Given the description of an element on the screen output the (x, y) to click on. 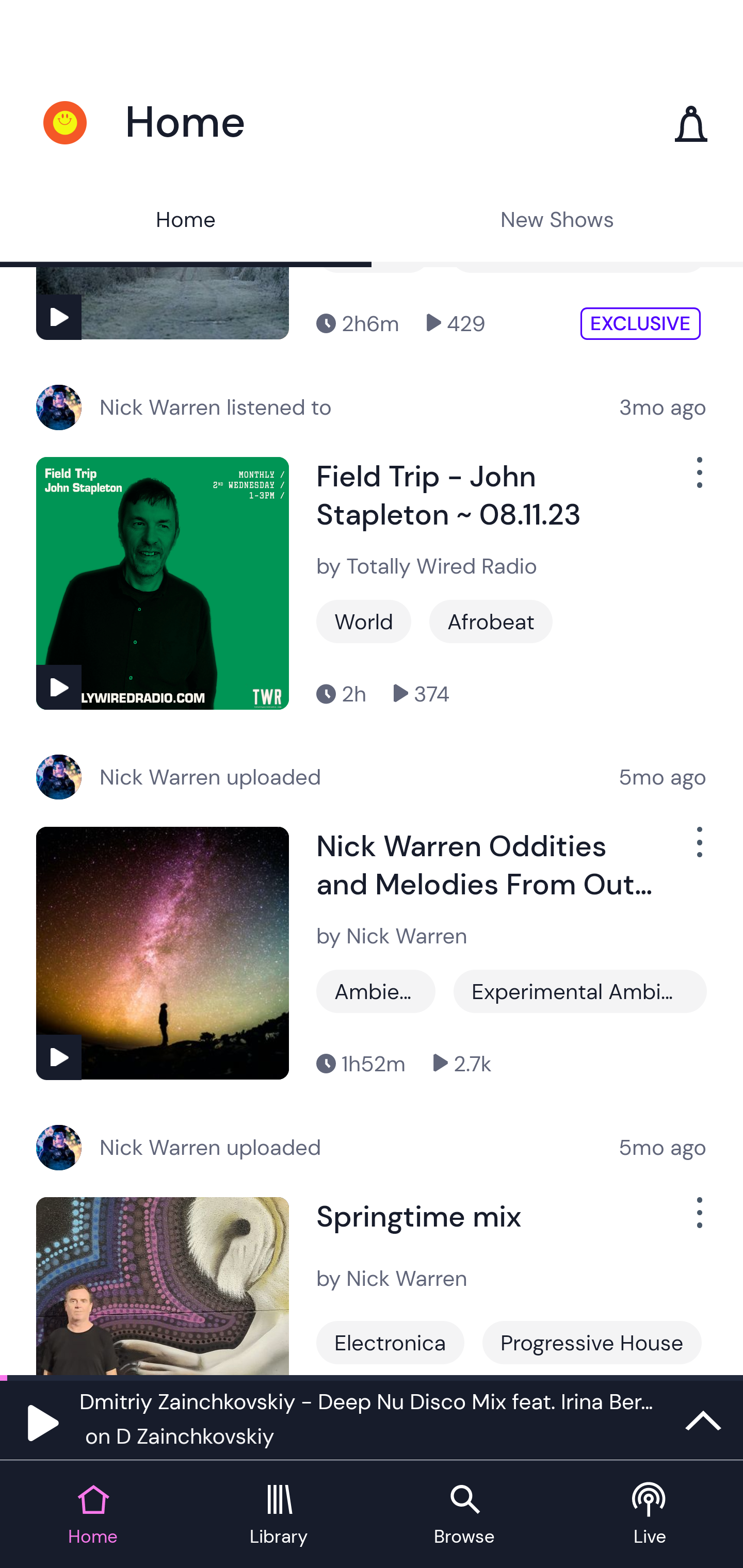
Home (185, 221)
New Shows (557, 221)
Ambient (373, 269)
Show Options Menu Button (697, 479)
World (363, 621)
Afrobeat (490, 621)
Show Options Menu Button (697, 849)
Ambient (375, 990)
Experimental Ambient (579, 990)
Show Options Menu Button (697, 1219)
Electronica (390, 1342)
Progressive House (591, 1342)
Home tab Home (92, 1515)
Library tab Library (278, 1515)
Browse tab Browse (464, 1515)
Live tab Live (650, 1515)
